Given the description of an element on the screen output the (x, y) to click on. 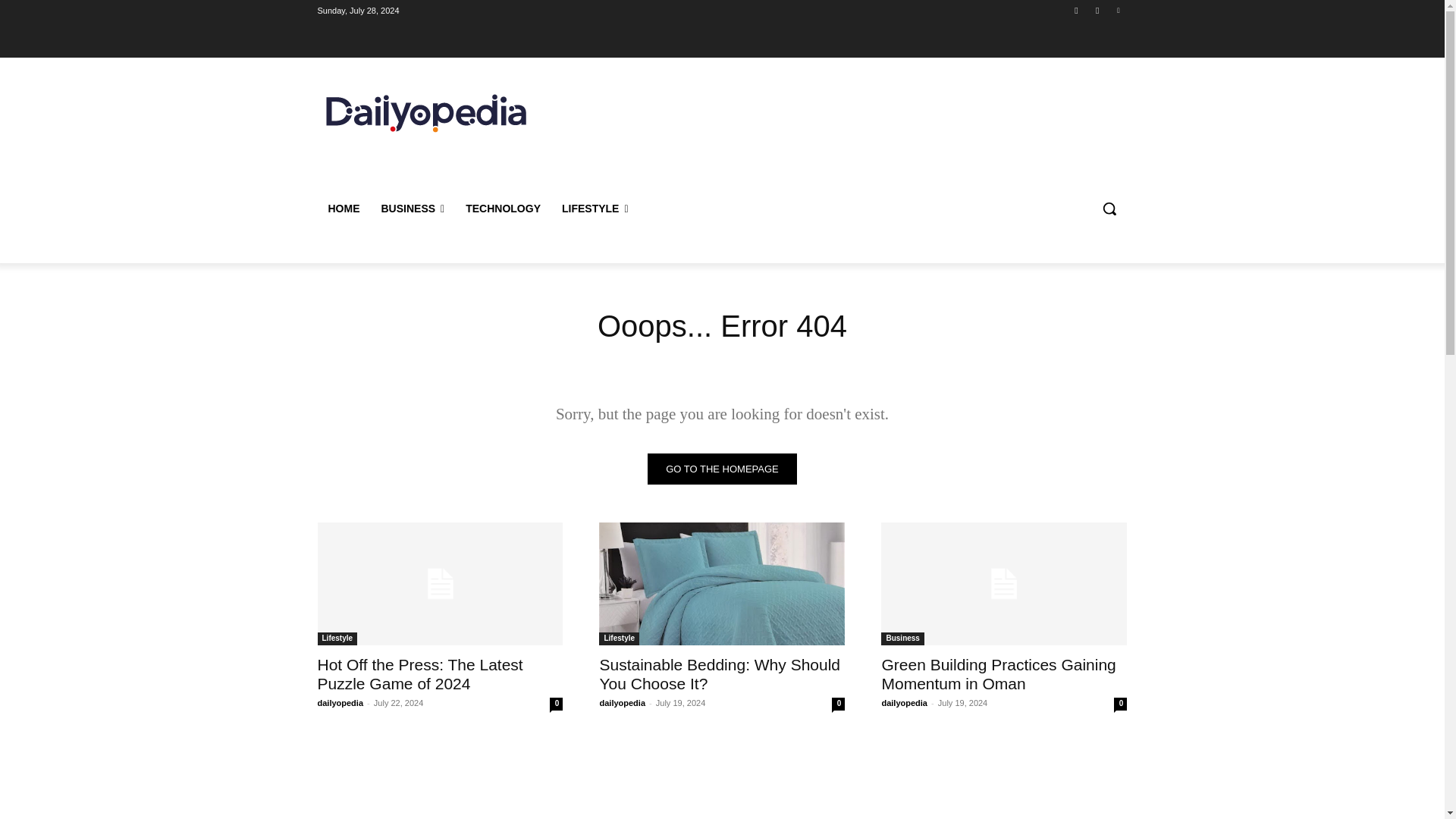
Linkedin (1117, 9)
Go to the homepage (721, 468)
Green Building Practices Gaining Momentum in Oman (1003, 583)
Lifestyle (336, 638)
Green Building Practices Gaining Momentum in Oman (997, 674)
Facebook (1075, 9)
Hot Off the Press: The Latest Puzzle Game of 2024 (439, 583)
0 (837, 703)
BUSINESS (411, 208)
Business (901, 638)
LIFESTYLE (595, 208)
HOME (343, 208)
Lifestyle (618, 638)
GO TO THE HOMEPAGE (721, 468)
Hot Off the Press: The Latest Puzzle Game of 2024 (419, 674)
